Given the description of an element on the screen output the (x, y) to click on. 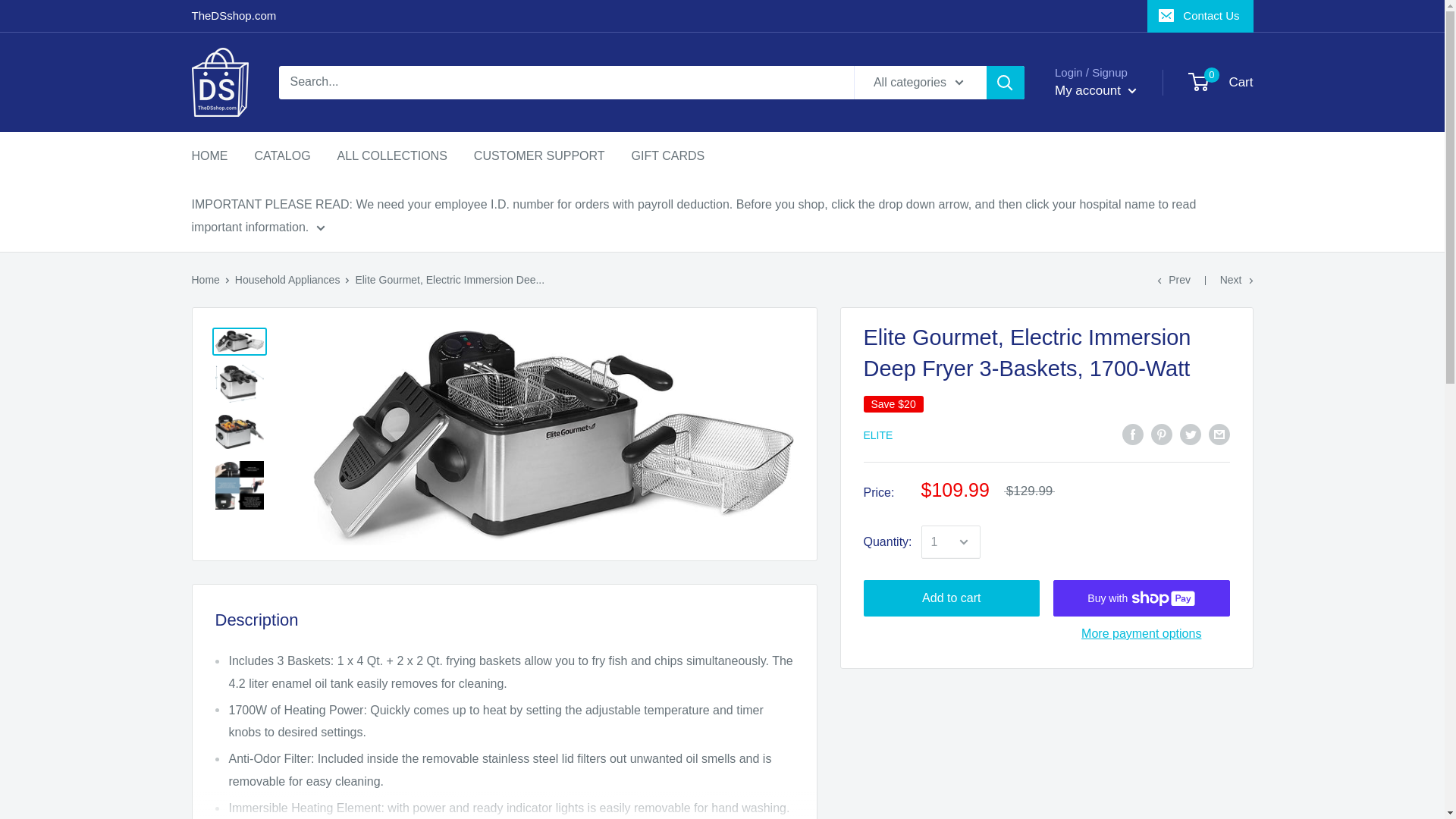
CUSTOMER SUPPORT (539, 155)
ALL COLLECTIONS (391, 155)
CATALOG (282, 155)
My account (1095, 90)
HOME (208, 155)
Contact Us (1221, 82)
GIFT CARDS (1199, 15)
